Given the description of an element on the screen output the (x, y) to click on. 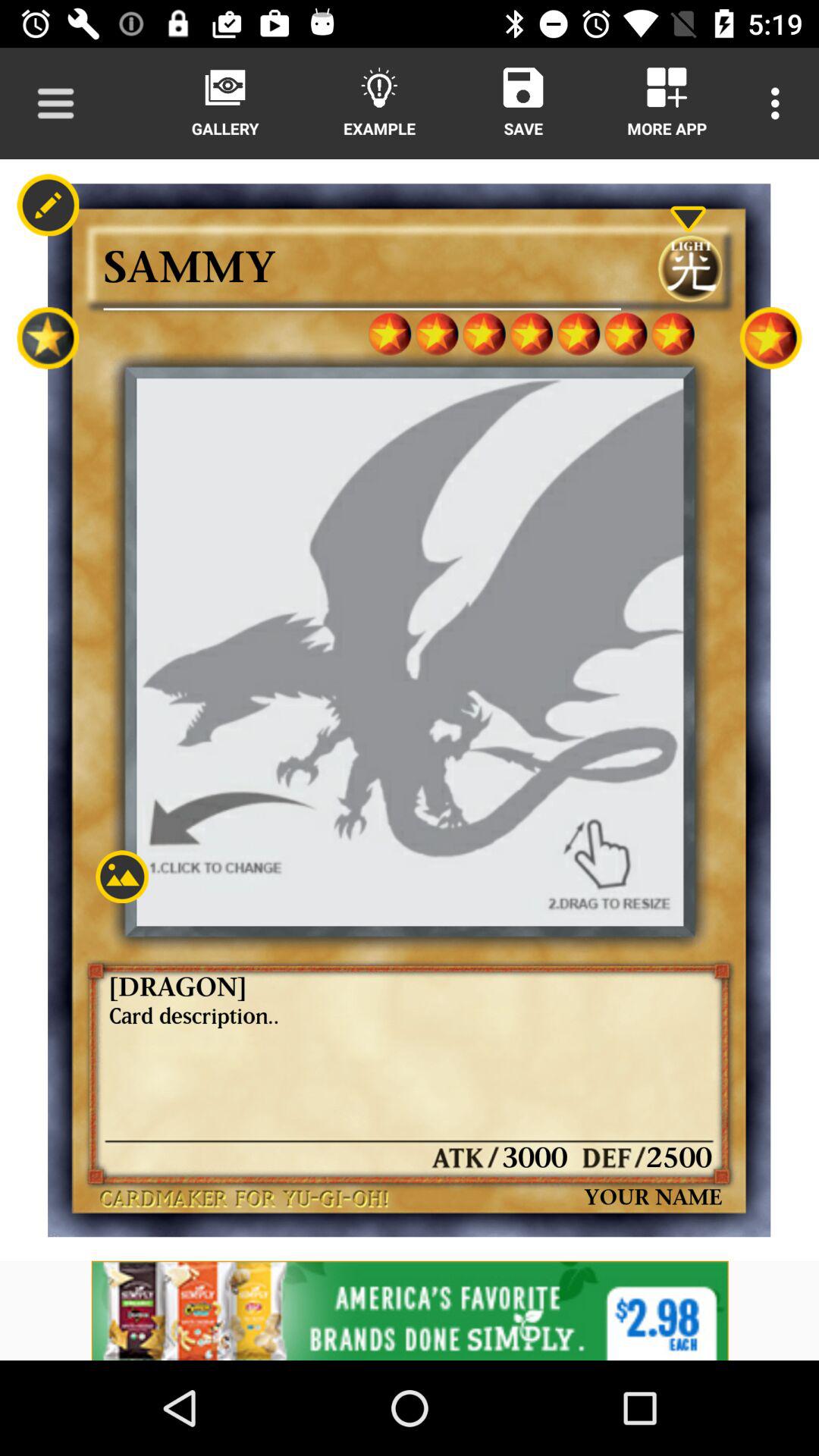
edit name (48, 205)
